Given the description of an element on the screen output the (x, y) to click on. 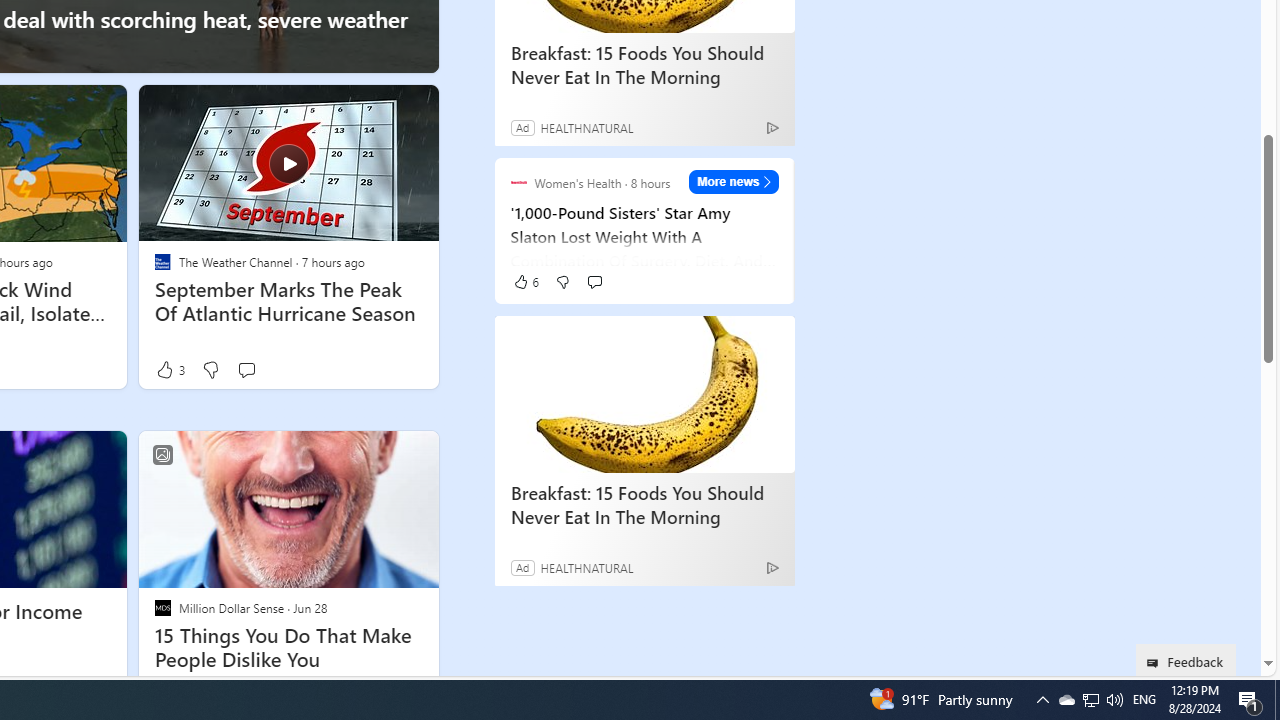
Million Dollar Sense (162, 607)
15 Things You Do That Make People Dislike You (287, 647)
3 Like (169, 369)
More news (733, 181)
Class: feedback_link_icon-DS-EntryPoint1-1 (1156, 663)
September Marks The Peak Of Atlantic Hurricane Season (288, 162)
The Weather Channel (162, 262)
